Given the description of an element on the screen output the (x, y) to click on. 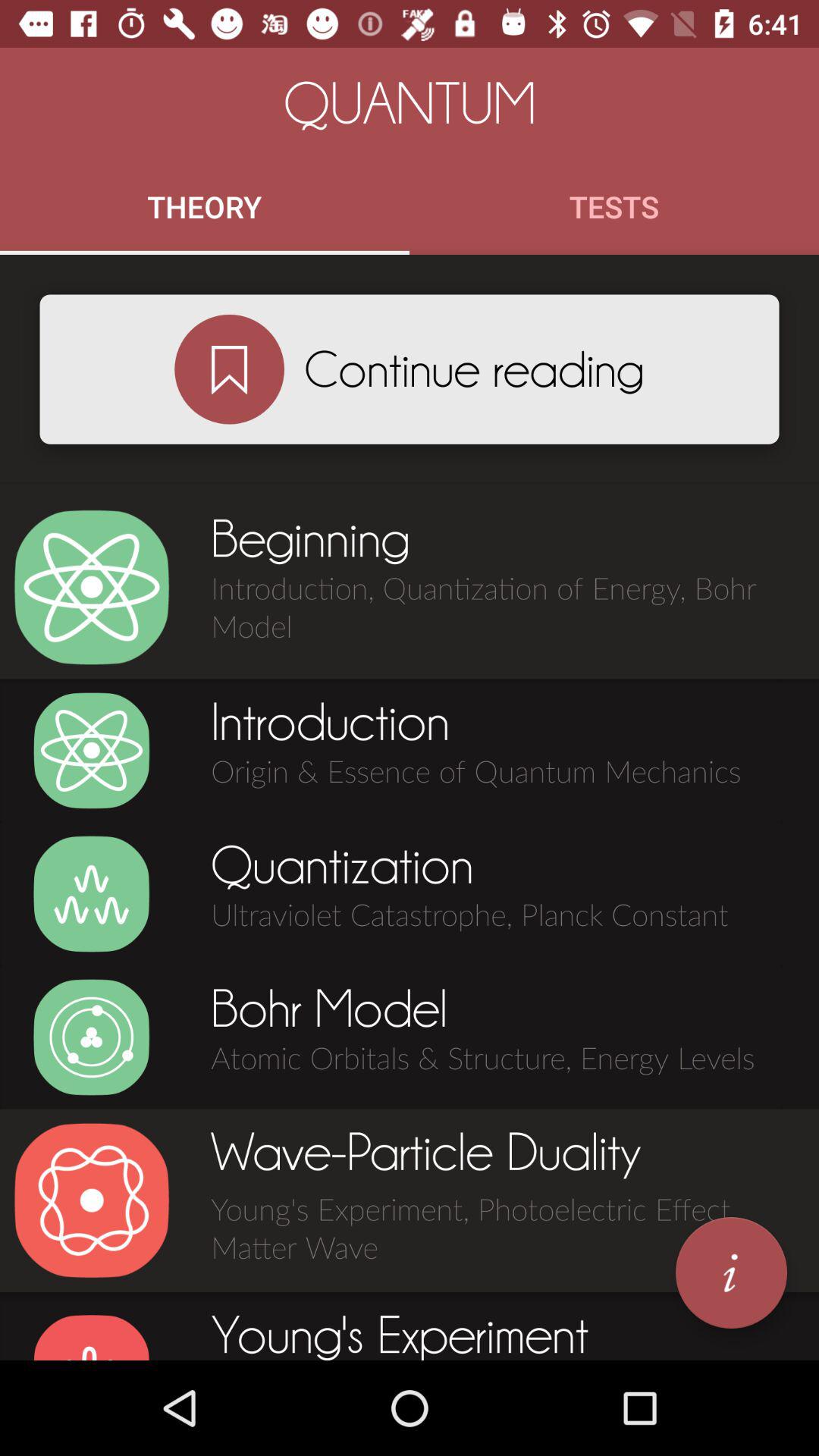
select the icon to the left of continue reading icon (229, 369)
